Given the description of an element on the screen output the (x, y) to click on. 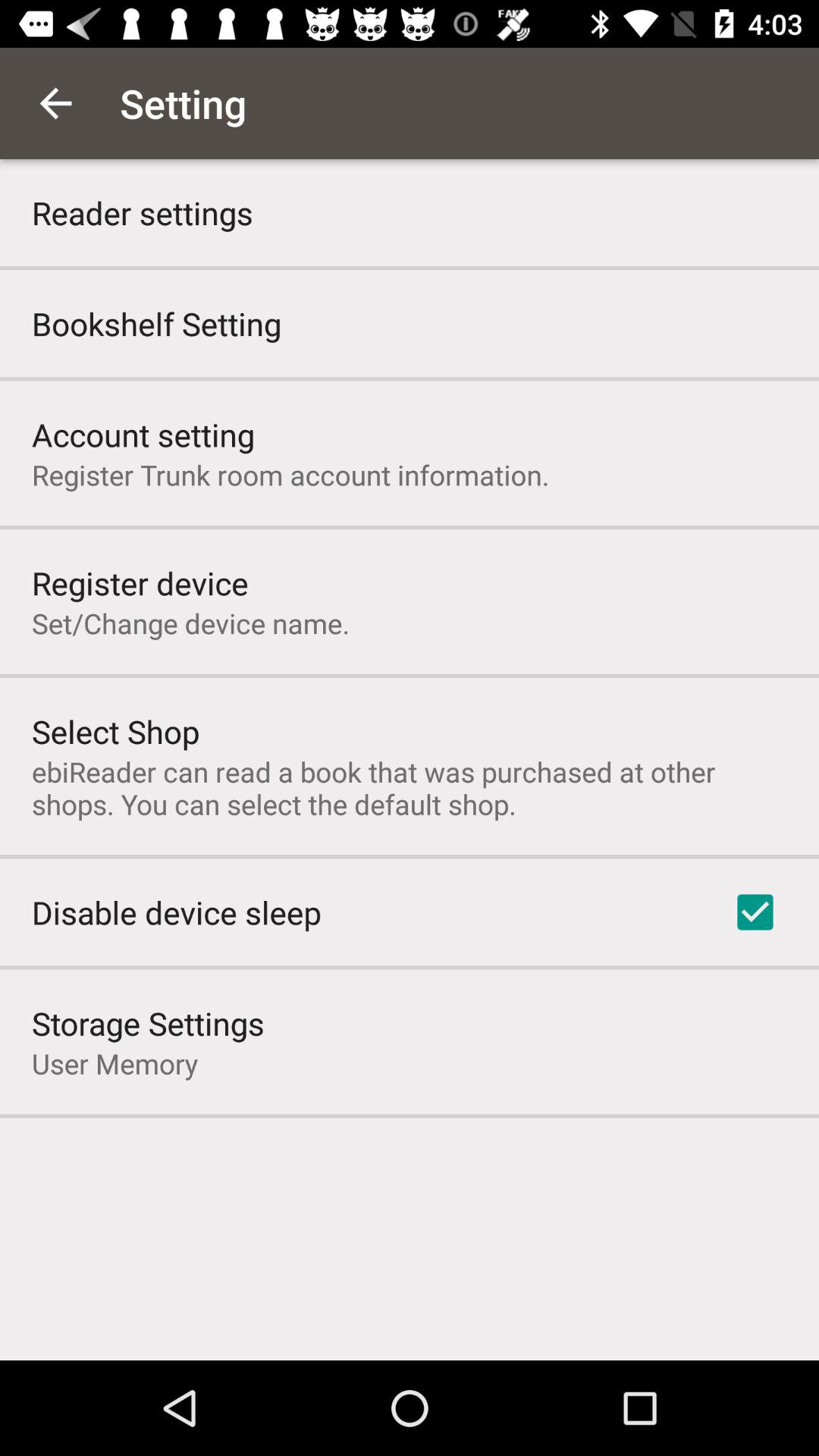
press item above storage settings (176, 911)
